Given the description of an element on the screen output the (x, y) to click on. 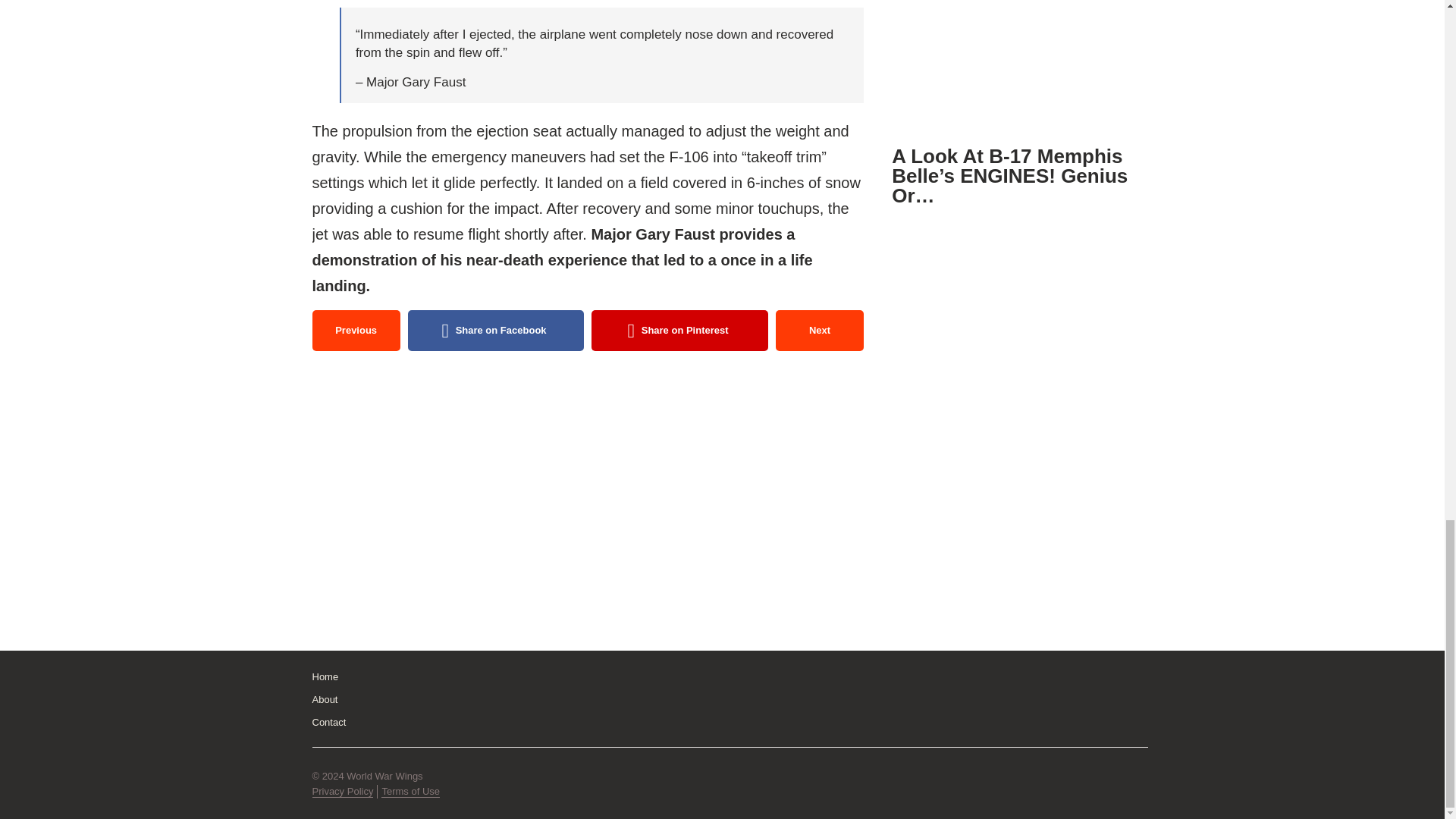
Share on Pinterest (679, 330)
